Given the description of an element on the screen output the (x, y) to click on. 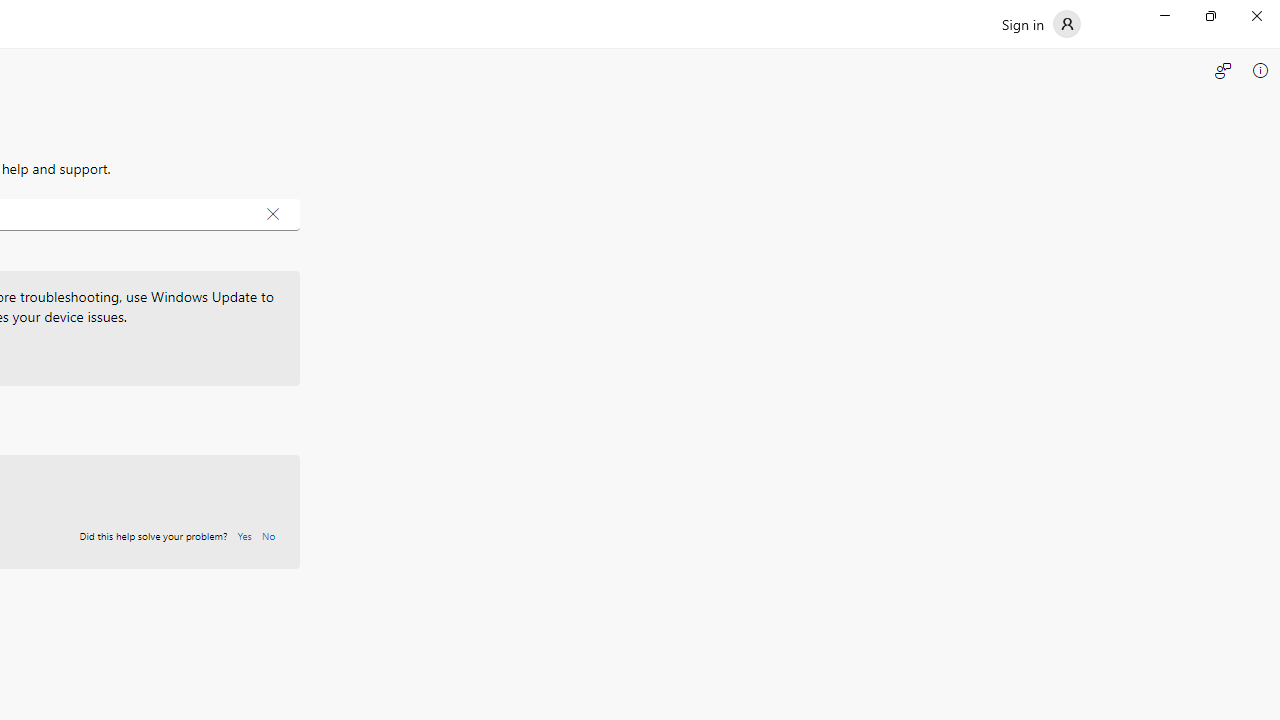
Sign in (1040, 24)
